Given the description of an element on the screen output the (x, y) to click on. 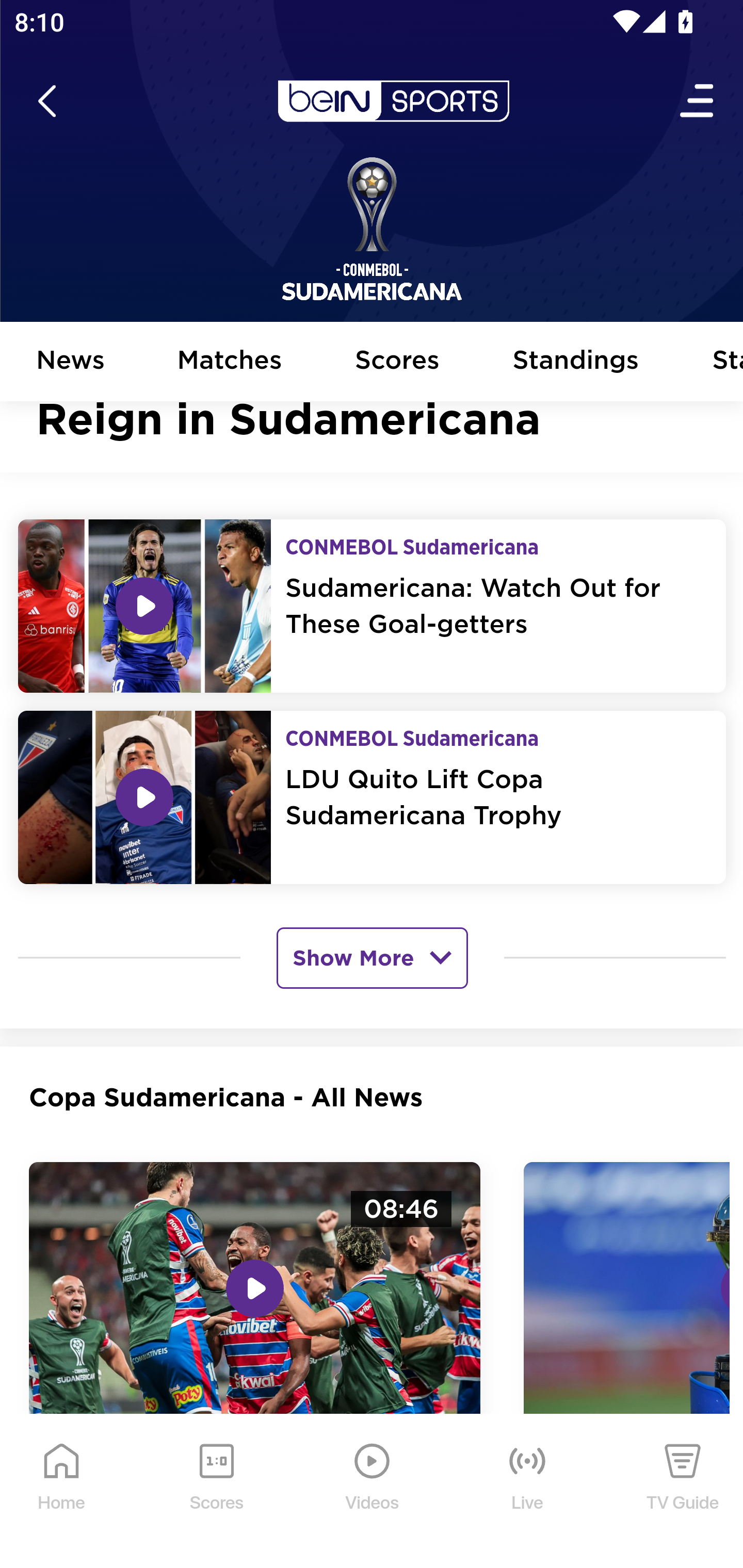
en-us?platform=mobile_android bein logo white (392, 101)
icon back (46, 101)
Open Menu Icon (697, 101)
News (70, 361)
Matches (229, 361)
Scores (397, 361)
Standings (575, 361)
Show More (371, 957)
Home Home Icon Home (61, 1491)
Scores Scores Icon Scores (216, 1491)
Videos Videos Icon Videos (372, 1491)
TV Guide TV Guide Icon TV Guide (682, 1491)
